Given the description of an element on the screen output the (x, y) to click on. 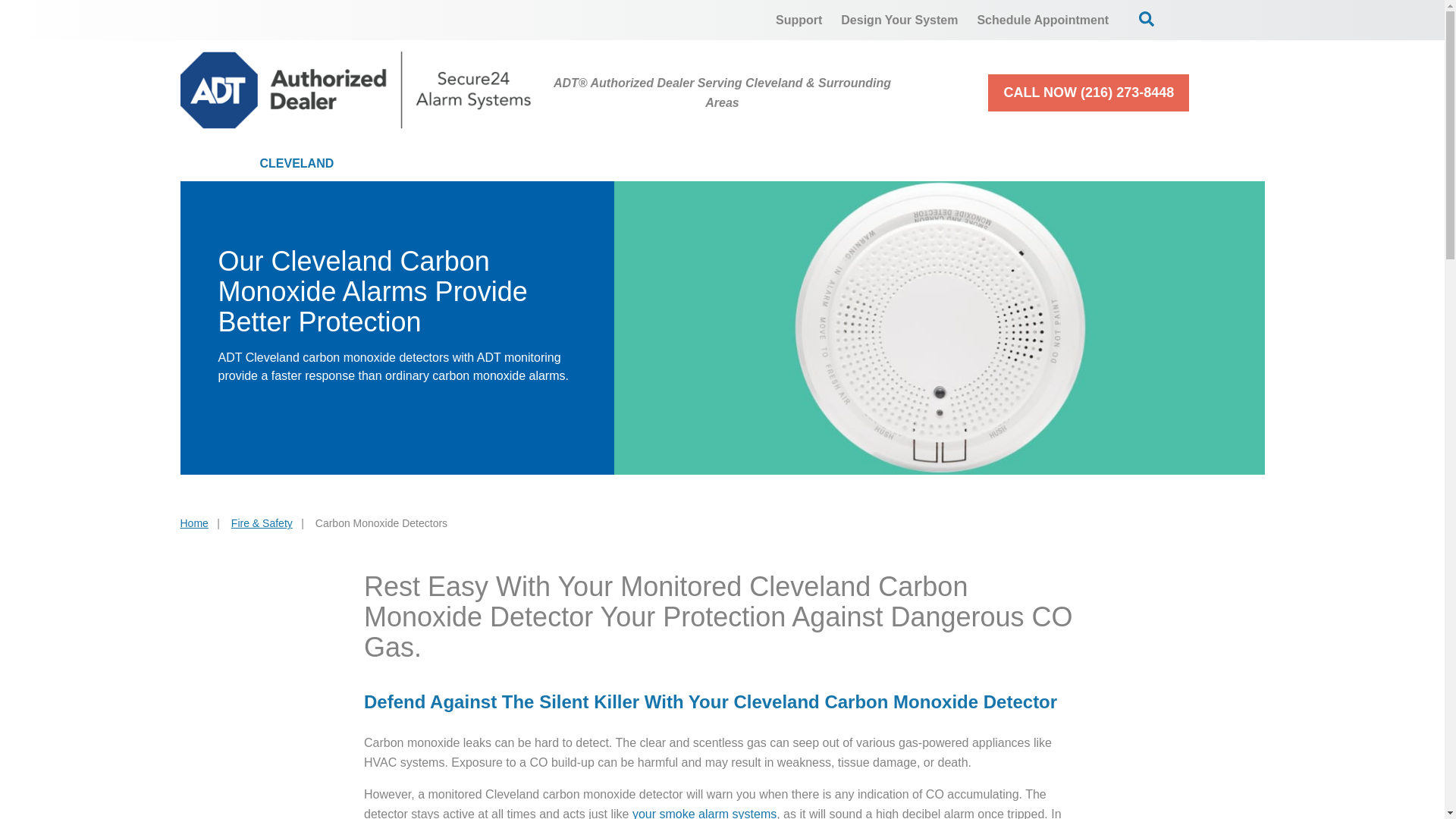
Design Your System (898, 20)
Open Search (1146, 18)
Home Security (449, 163)
Home Automation (755, 163)
Schedule Appointment (1042, 20)
Support (798, 20)
Secure24 Alarm Systems Home (355, 89)
Cameras (597, 163)
